Given the description of an element on the screen output the (x, y) to click on. 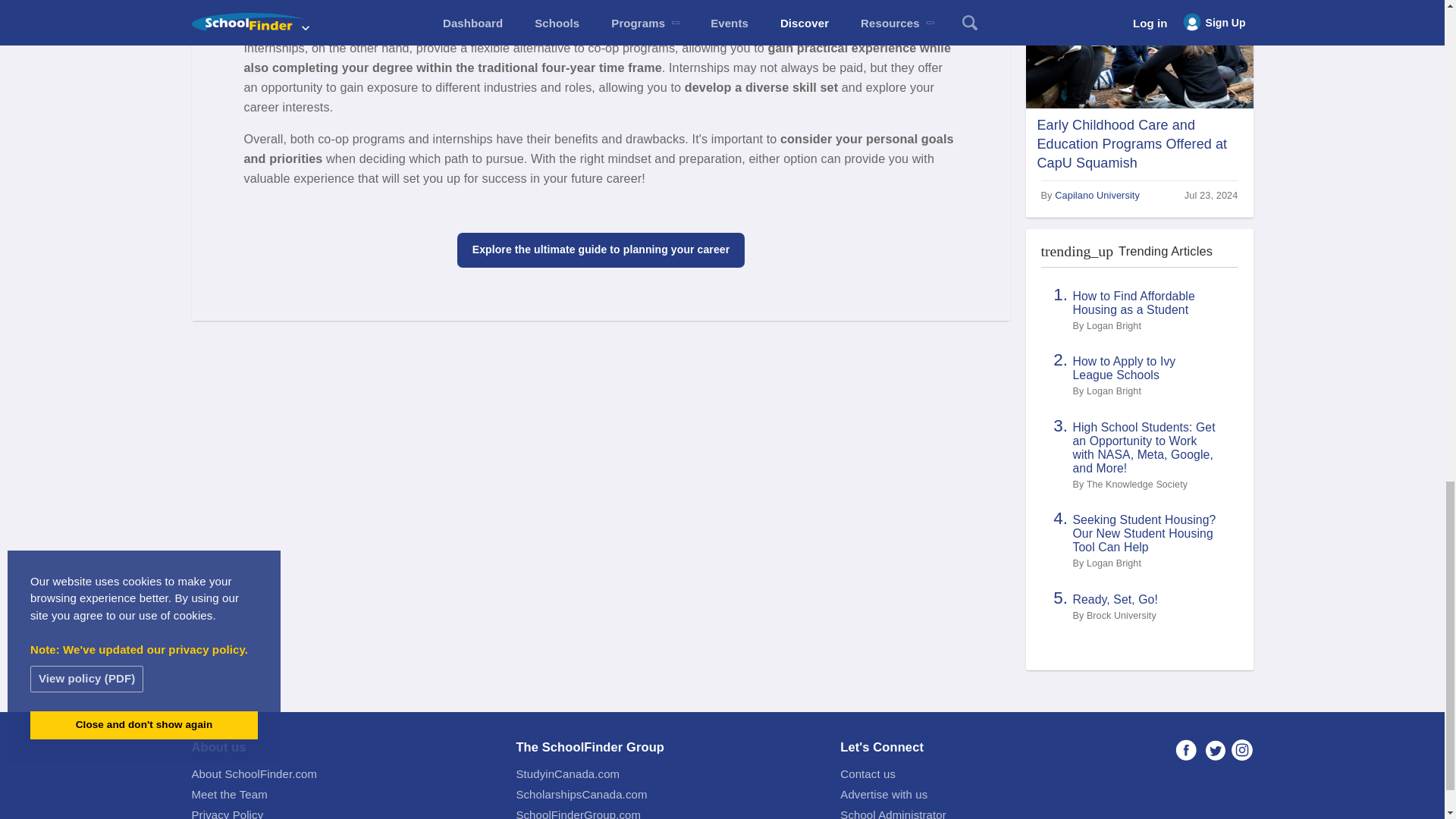
know what to expect in co-op (561, 15)
Explore the ultimate guide to planning your career (601, 249)
